Given the description of an element on the screen output the (x, y) to click on. 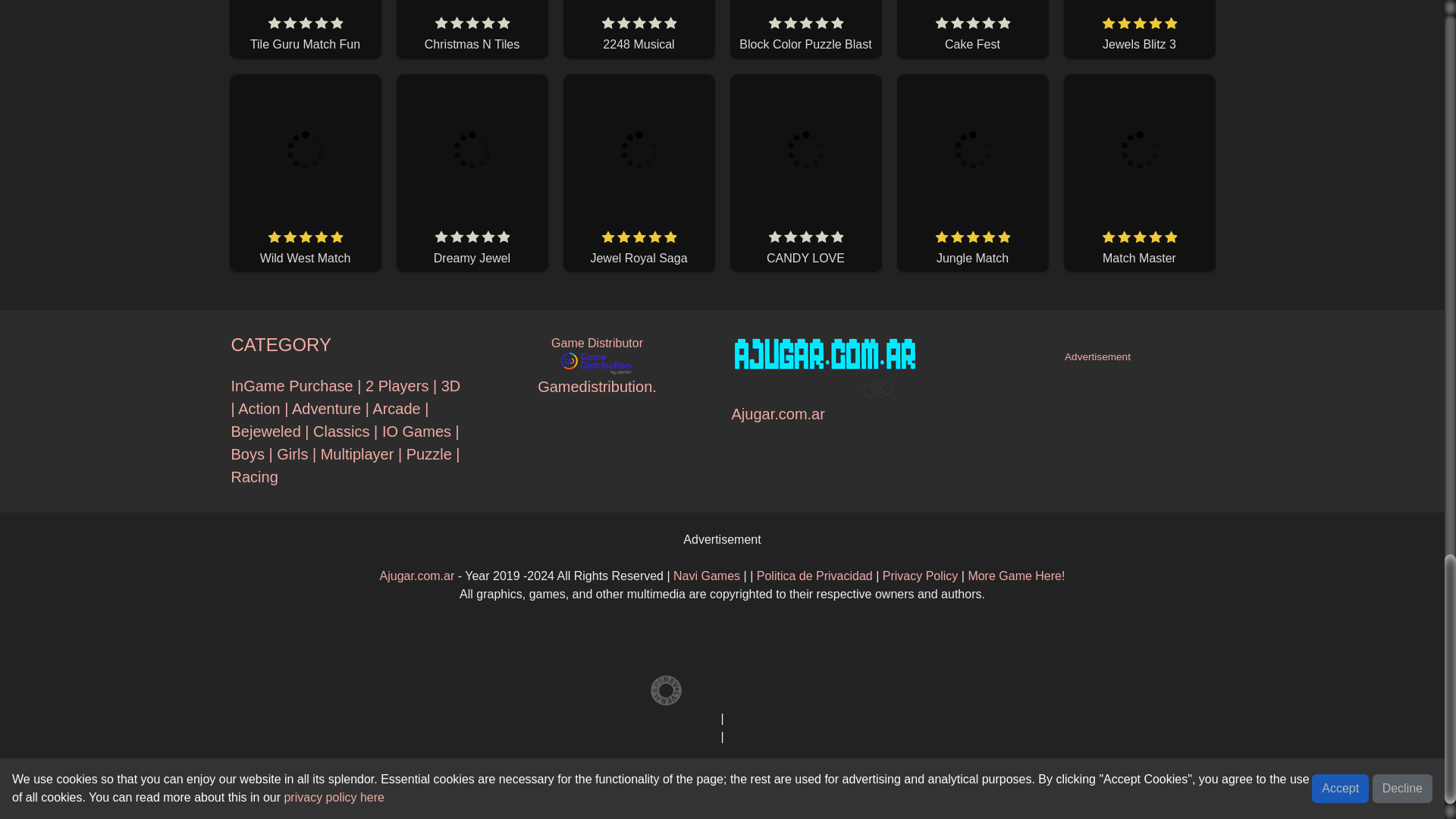
Ajugar (814, 575)
Ajugar (920, 575)
Ajugar (417, 575)
Navi Games (705, 575)
